Given the description of an element on the screen output the (x, y) to click on. 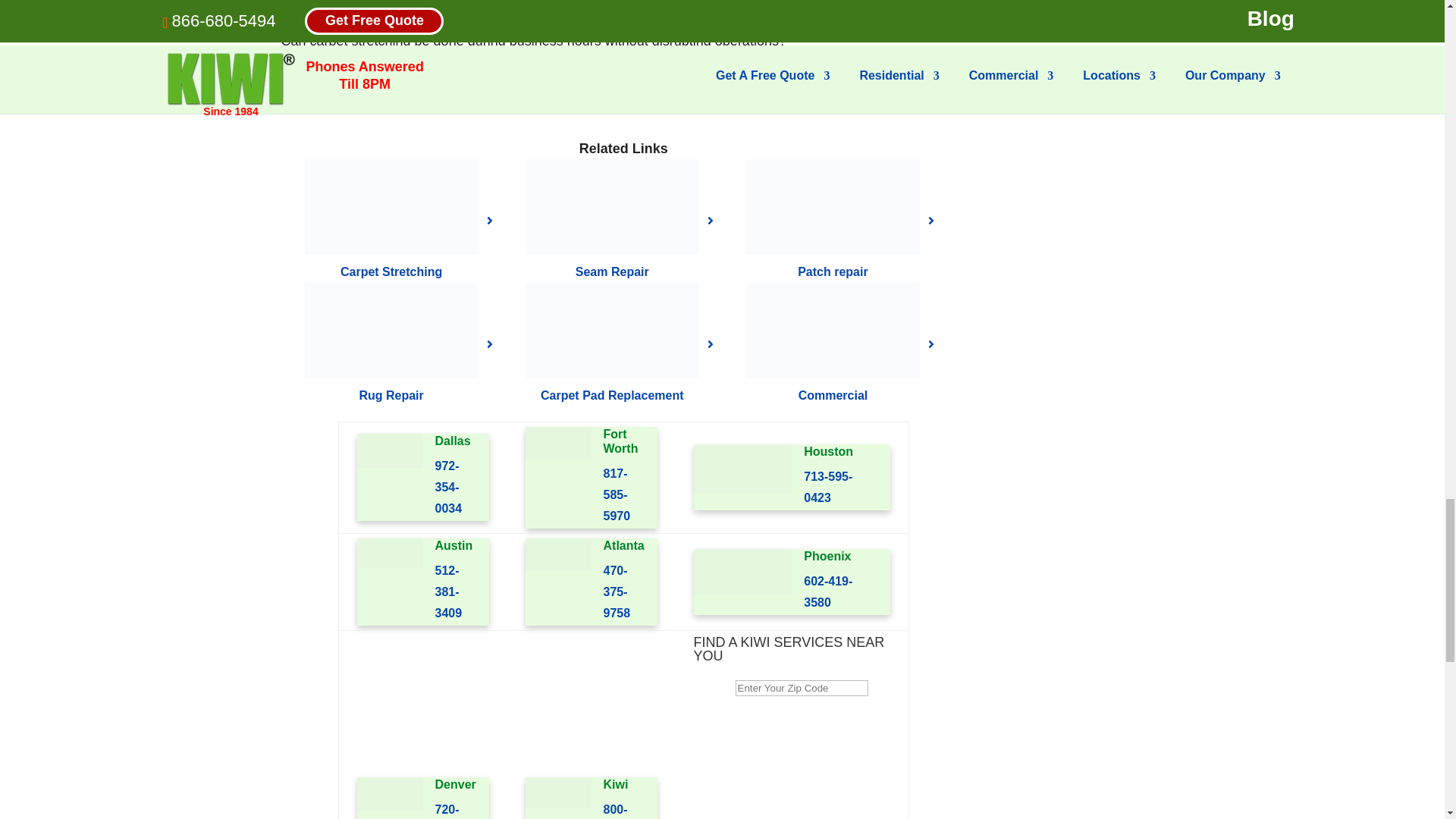
Carpet Stretching (391, 206)
Seam Repair (612, 271)
Commercial (832, 330)
Carpet Stretching (391, 271)
Rug Repair (391, 330)
Patch repair (832, 206)
Patch repair (832, 271)
Carpet Pad Replacement (612, 395)
Rug Repair (390, 395)
Carpet Pad Replacement (611, 330)
